Given the description of an element on the screen output the (x, y) to click on. 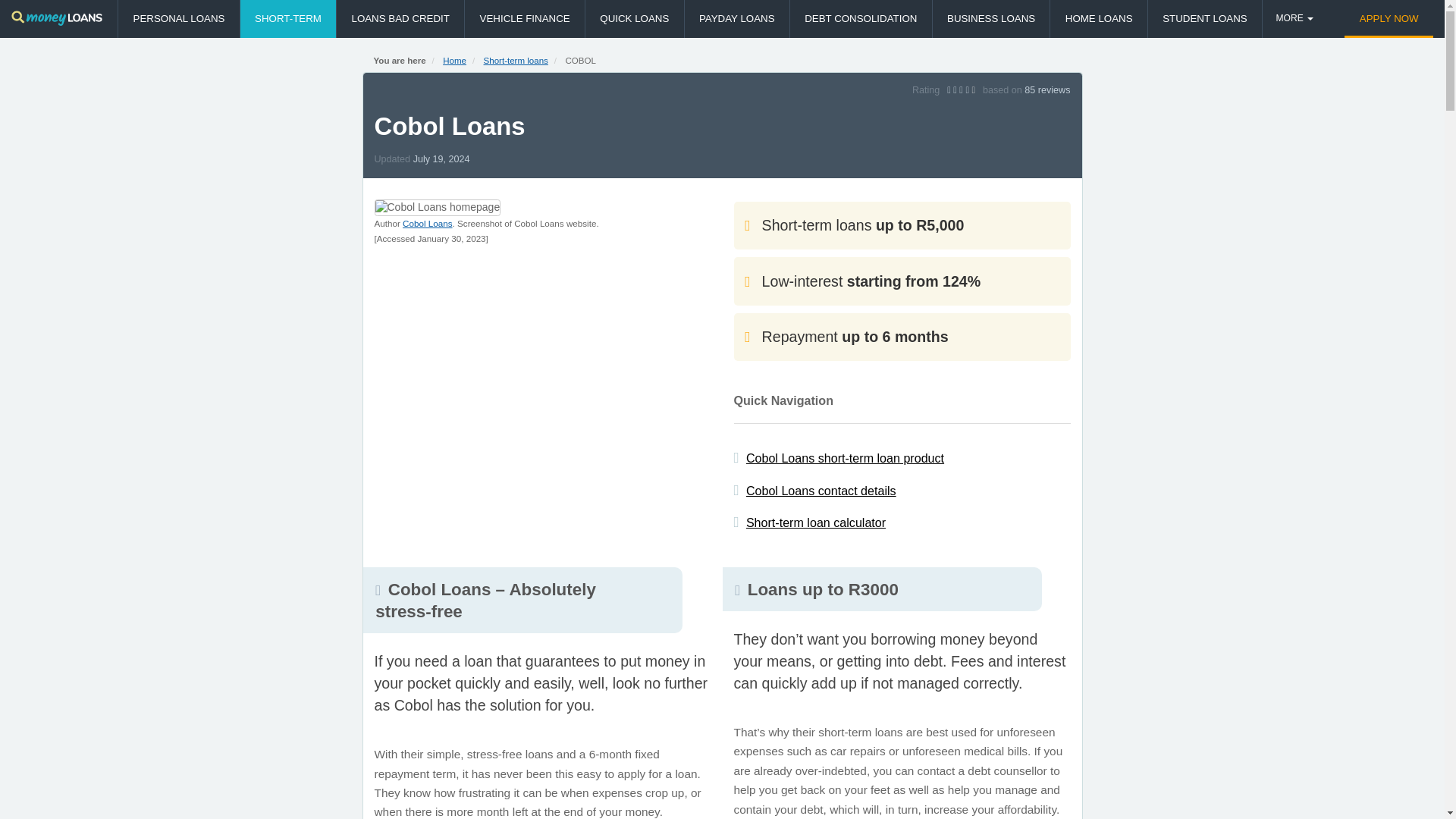
Loan Application (1387, 18)
Loans blacklisted (400, 18)
QUICK LOANS (634, 18)
Personal loans (177, 18)
BUSINESS LOANS (991, 18)
Cobol Loans contact details (820, 490)
Business loans (991, 18)
Short-term loans (288, 18)
Student loans (1205, 18)
DEBT CONSOLIDATION (860, 18)
